Given the description of an element on the screen output the (x, y) to click on. 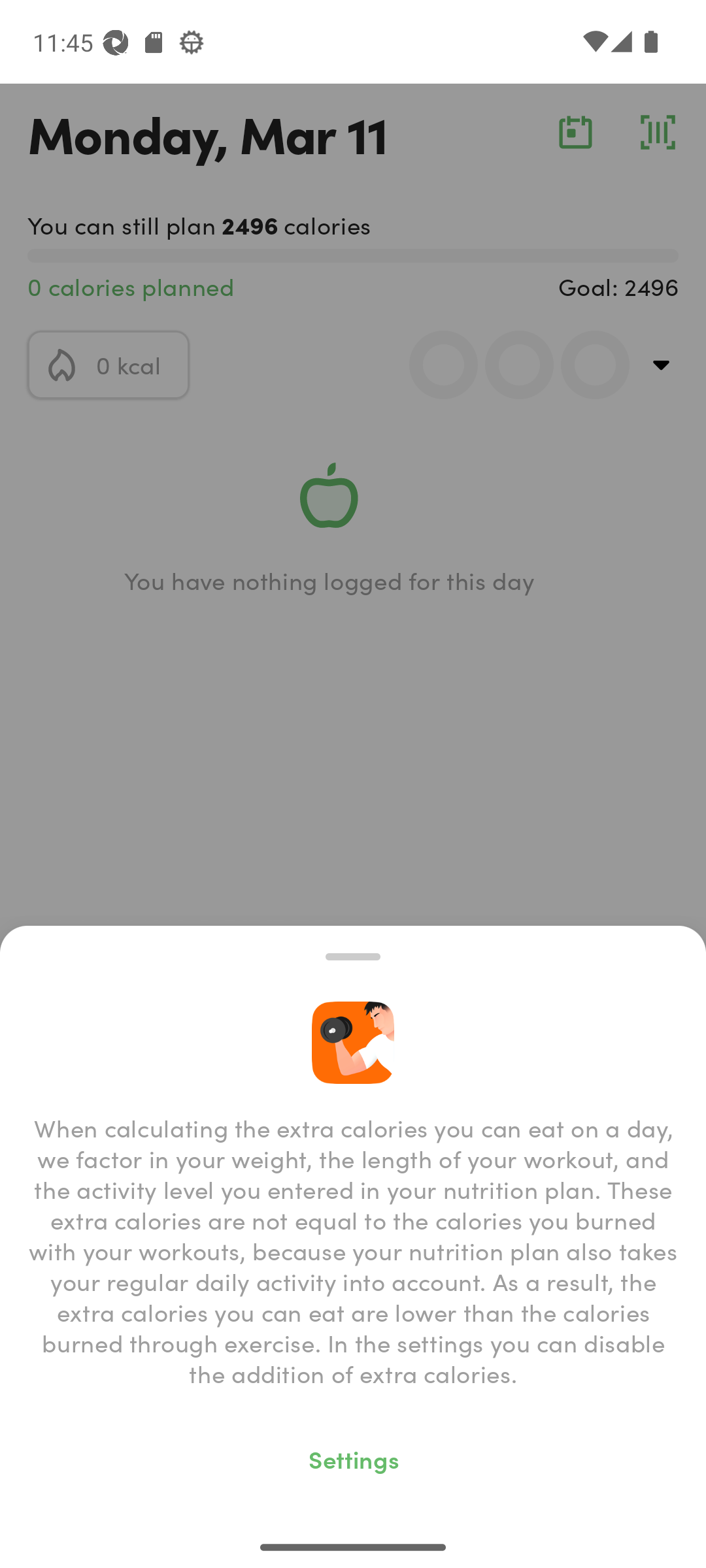
Settings (353, 1458)
